Given the description of an element on the screen output the (x, y) to click on. 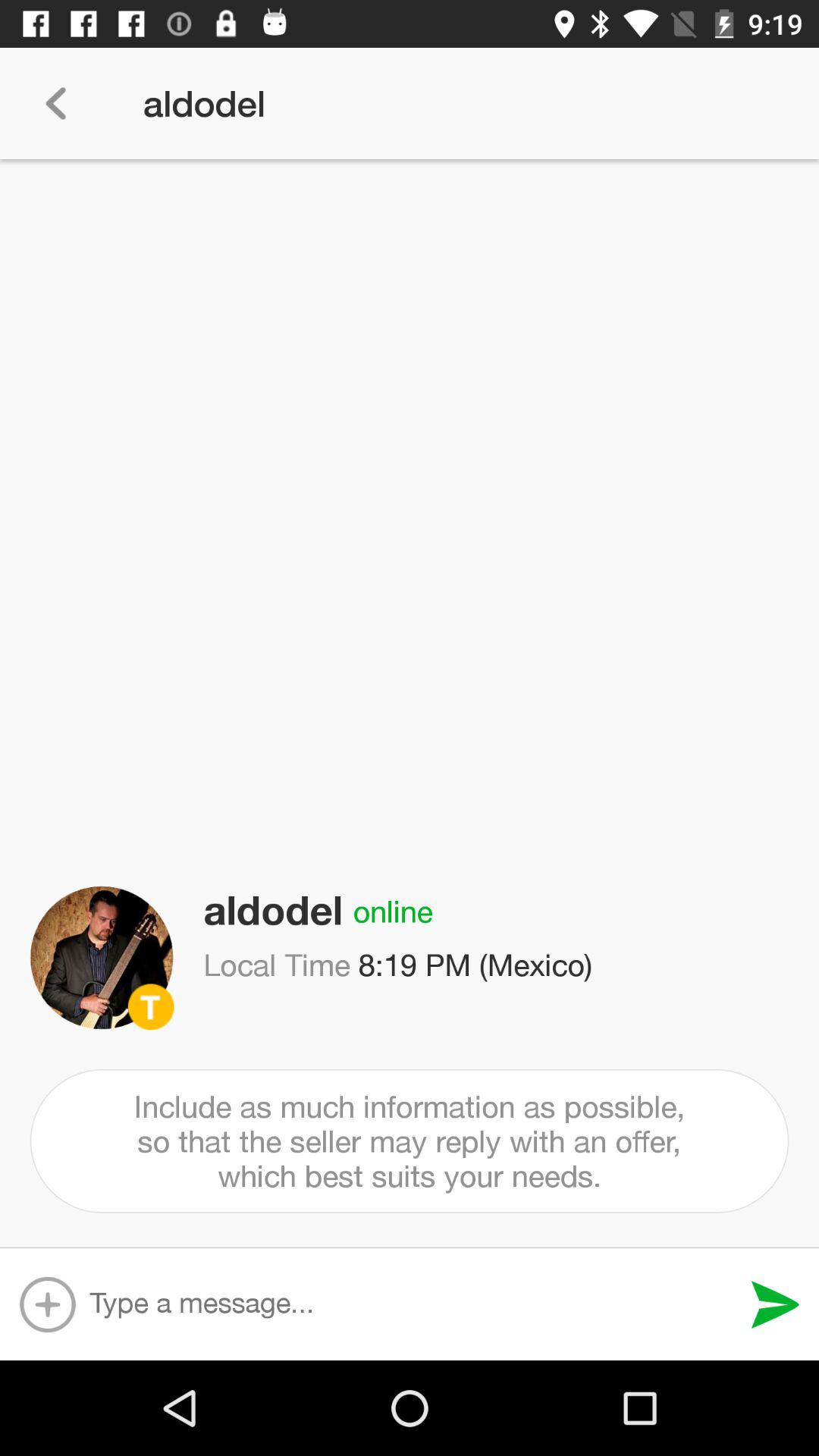
add button (47, 1304)
